Given the description of an element on the screen output the (x, y) to click on. 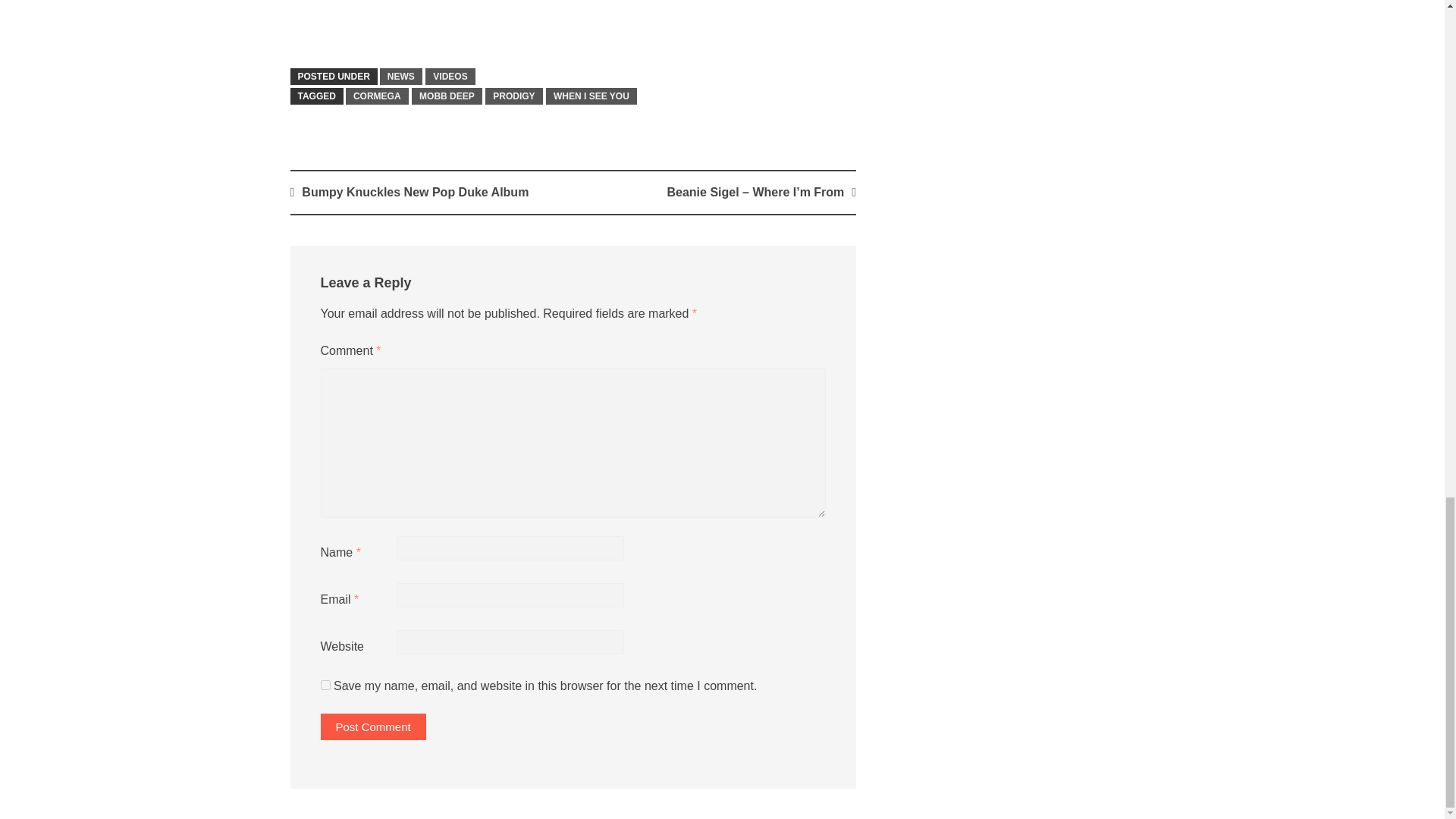
CORMEGA (377, 95)
MOBB DEEP (446, 95)
PRODIGY (512, 95)
Post Comment (372, 726)
WHEN I SEE YOU (591, 95)
NEWS (401, 76)
Bumpy Knuckles New Pop Duke Album (414, 192)
YouTube player (572, 22)
Post Comment (372, 726)
VIDEOS (449, 76)
